Given the description of an element on the screen output the (x, y) to click on. 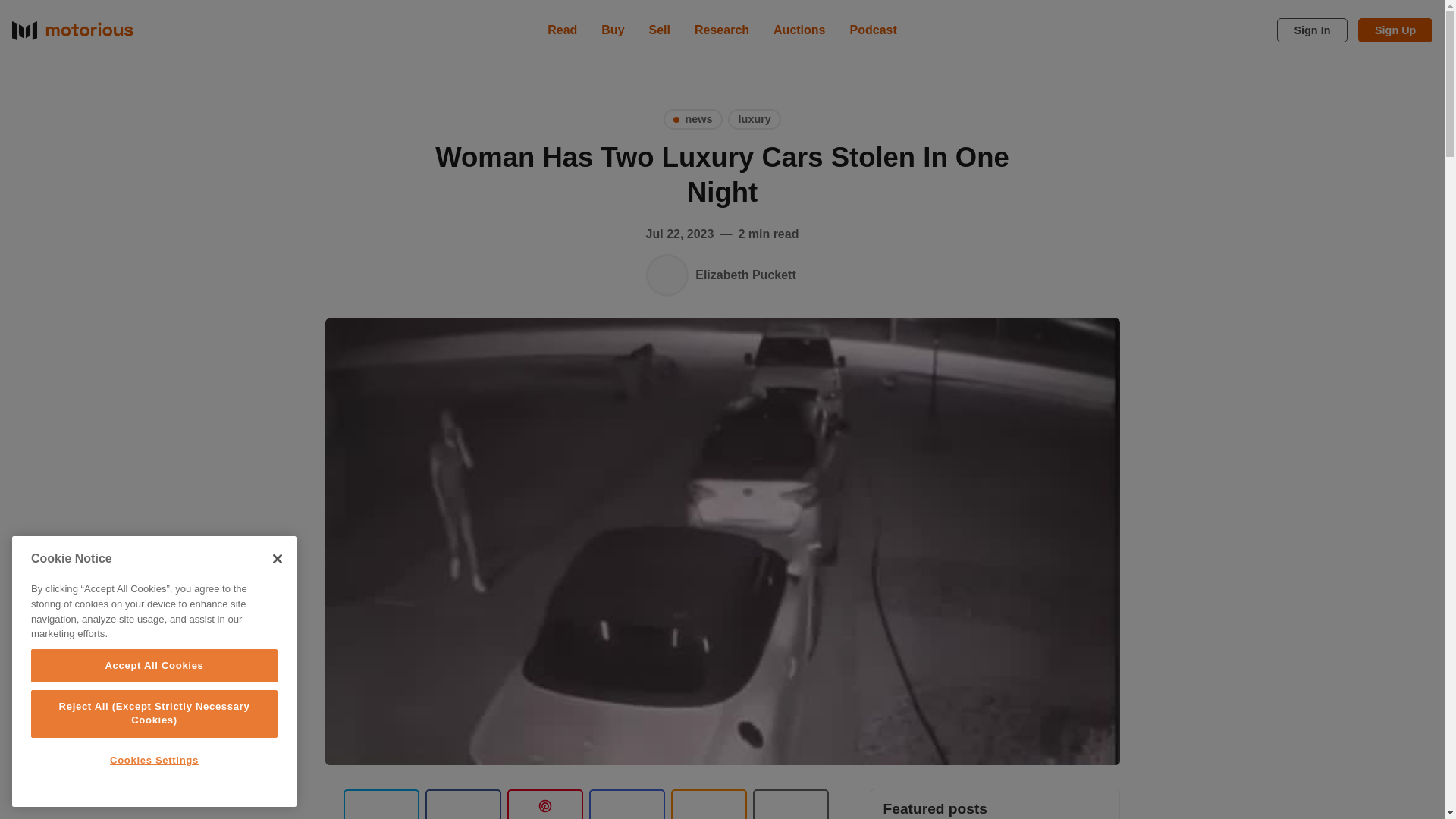
news (692, 118)
Share on Facebook (462, 804)
luxury (754, 118)
Bookmark (790, 804)
Auctions (799, 29)
luxury (754, 118)
Copy to clipboard (707, 804)
Sign Up (1395, 30)
Elizabeth Puckett (666, 275)
Sign In (1312, 30)
